Given the description of an element on the screen output the (x, y) to click on. 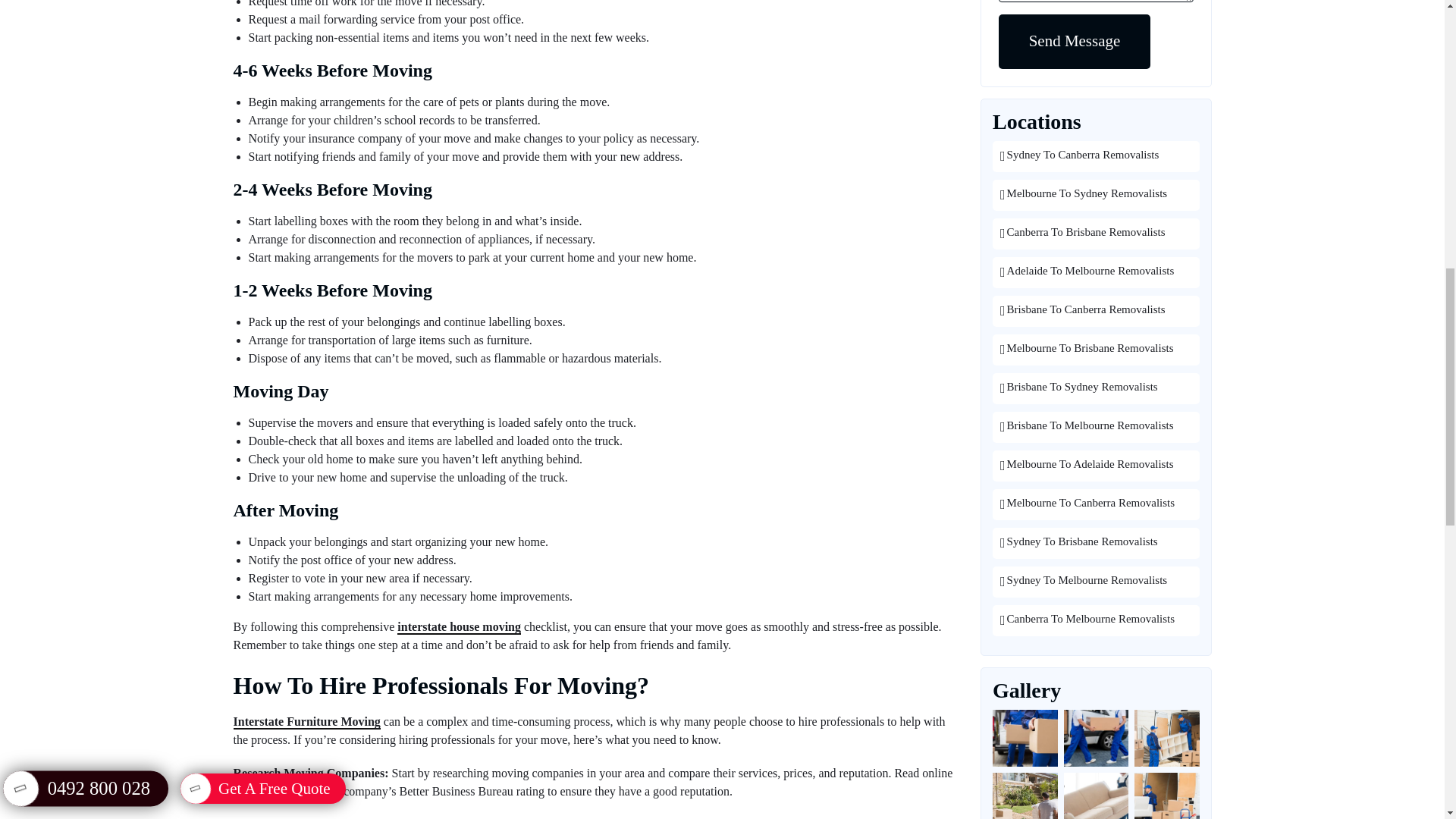
Send Message (1074, 41)
interstate house moving (459, 626)
Send Message (1074, 41)
Interstate Furniture Moving (306, 721)
